Given the description of an element on the screen output the (x, y) to click on. 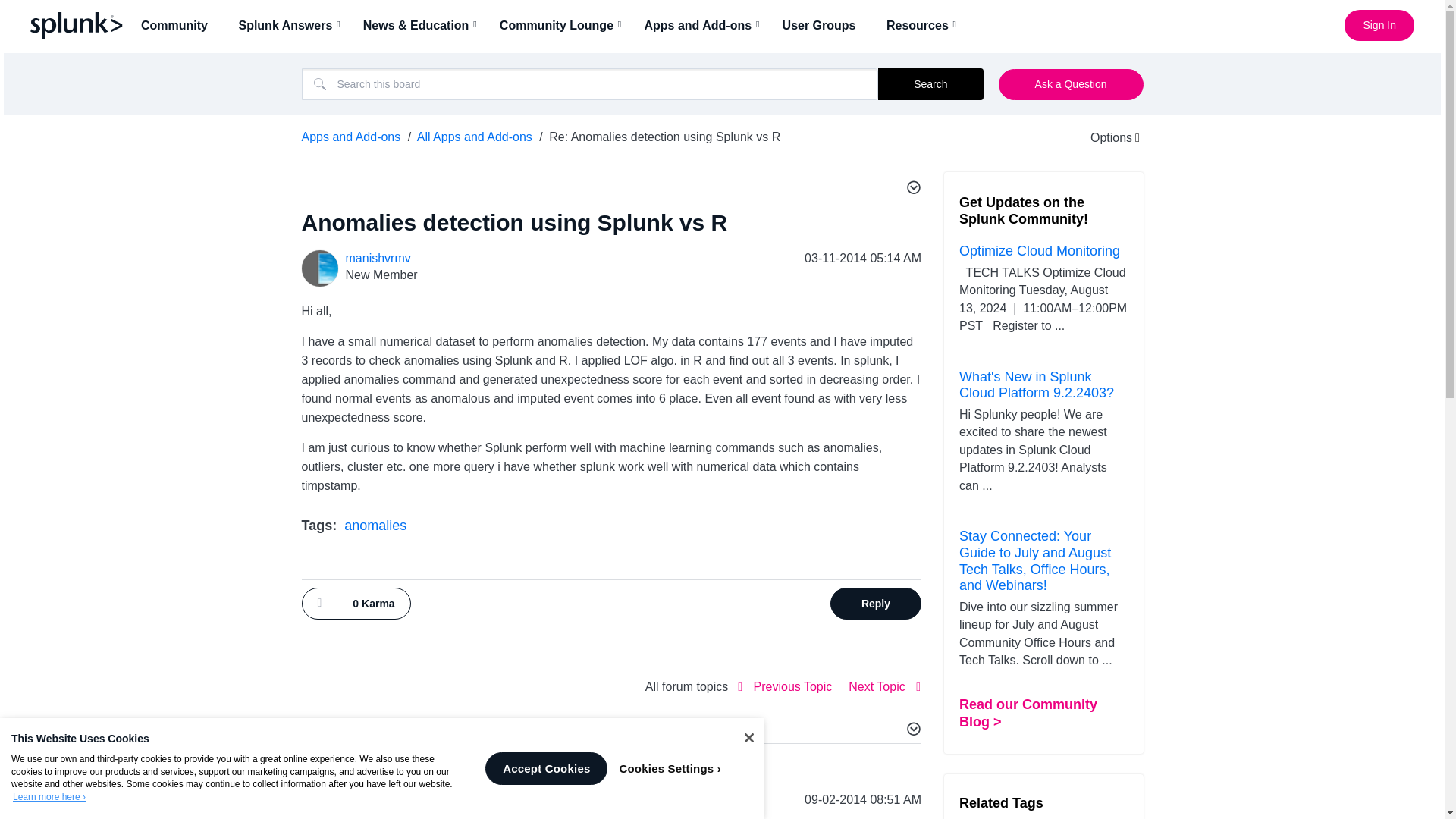
Show option menu (911, 189)
Show option menu (1105, 137)
Search (929, 83)
Search (590, 83)
Search (929, 83)
Community (178, 25)
Splunk Answers (289, 25)
